Given the description of an element on the screen output the (x, y) to click on. 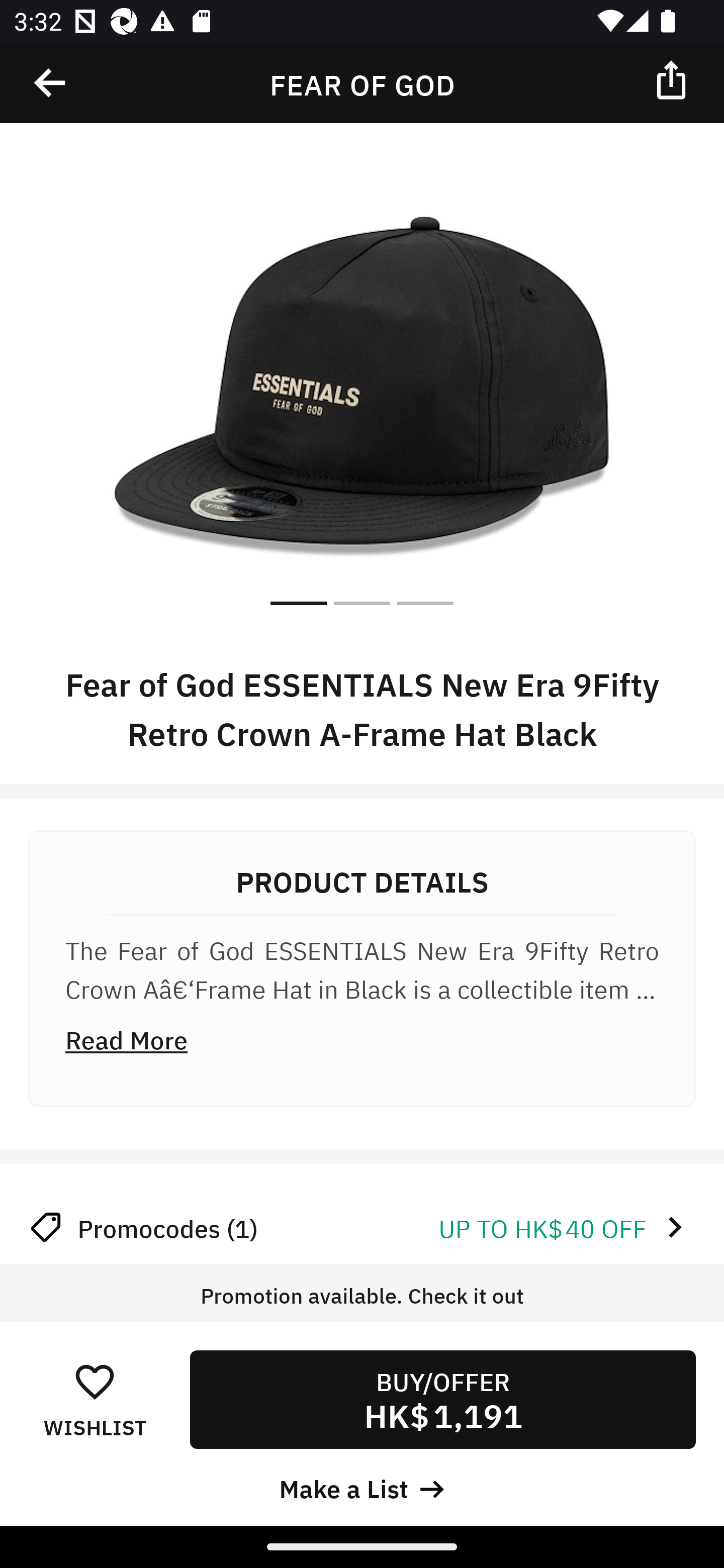
 (50, 83)
 (672, 79)
Promocodes (1) UP TO HK$ 40 OFF  (361, 1226)
BUY/OFFER HK$ 1,191 (442, 1399)
󰋕 (94, 1380)
Make a List (361, 1486)
